Given the description of an element on the screen output the (x, y) to click on. 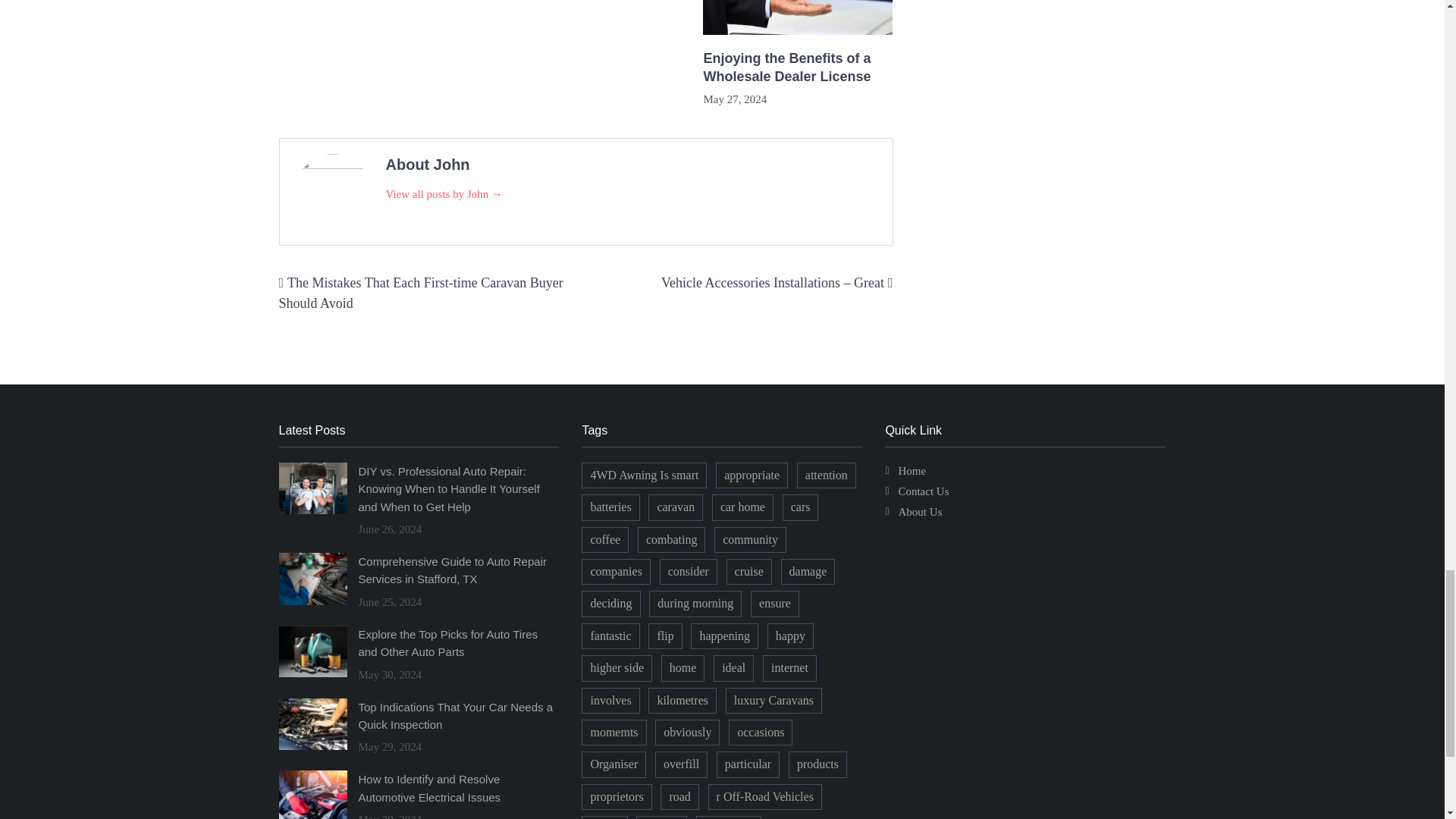
Enjoying the Benefits of a Wholesale Dealer License  (797, 67)
The Mistakes That Each First-time Caravan Buyer Should Avoid (421, 293)
